Given the description of an element on the screen output the (x, y) to click on. 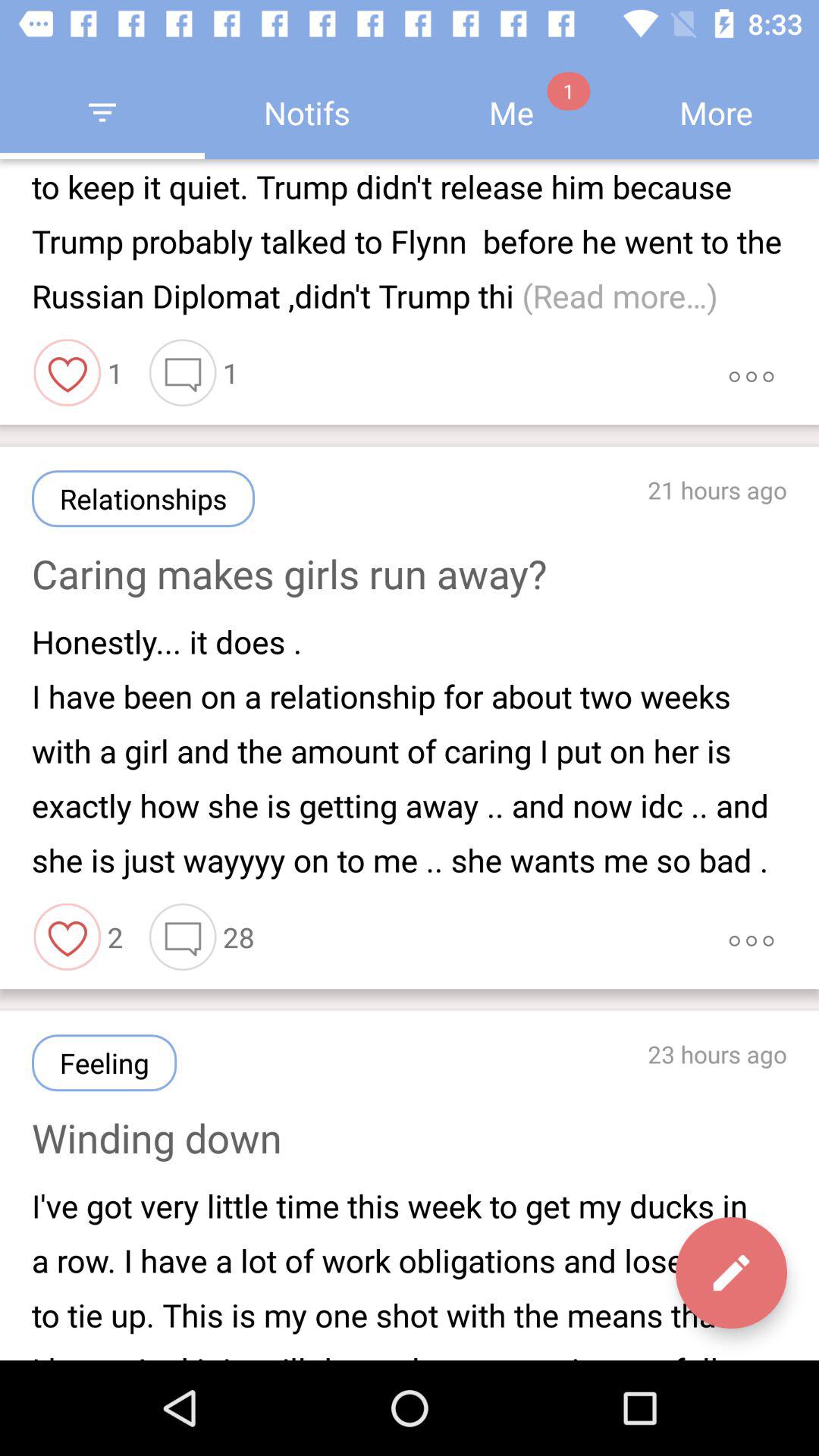
turn off item below winding down (409, 1272)
